Given the description of an element on the screen output the (x, y) to click on. 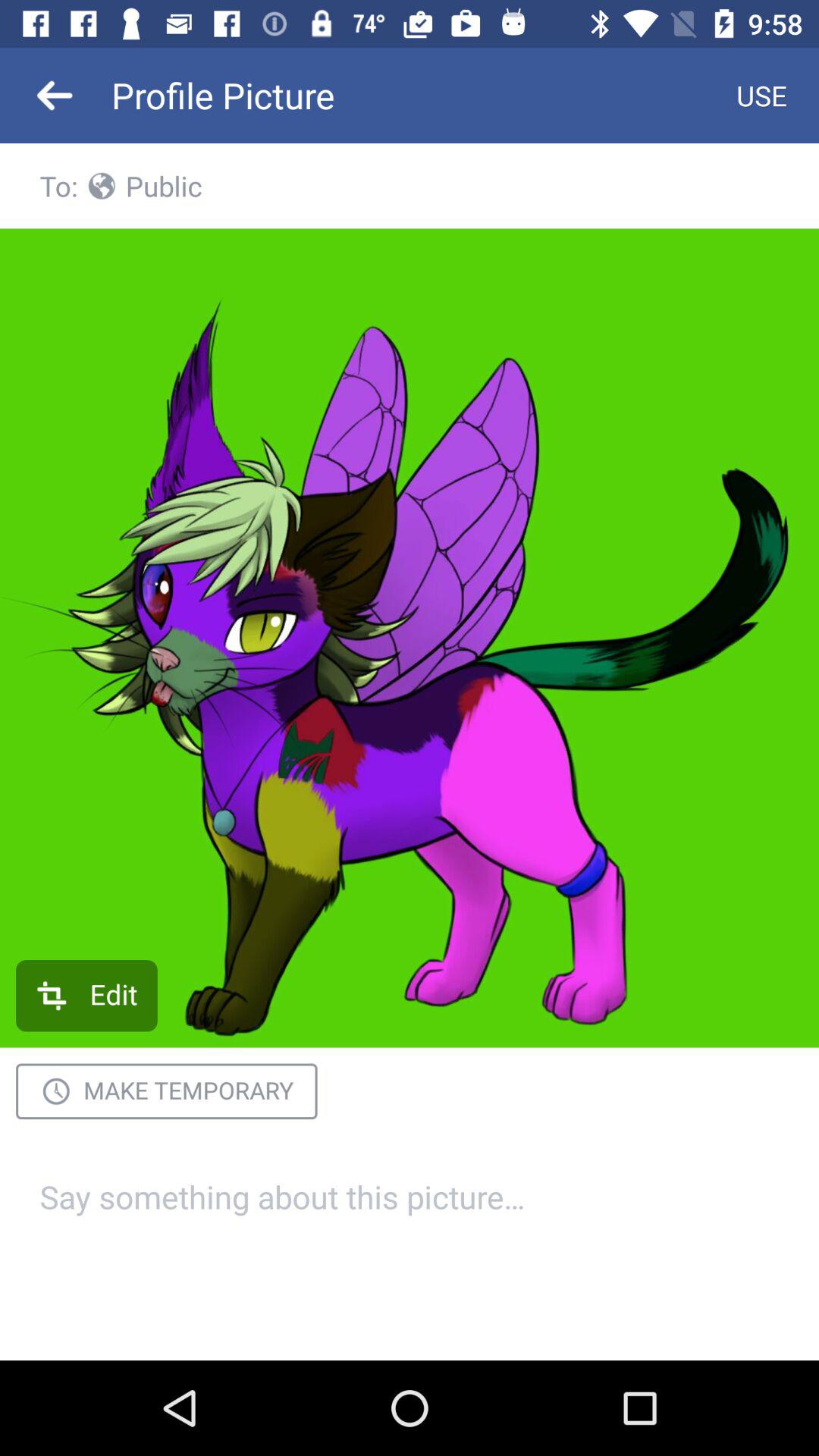
scroll until the make temporary icon (166, 1091)
